Given the description of an element on the screen output the (x, y) to click on. 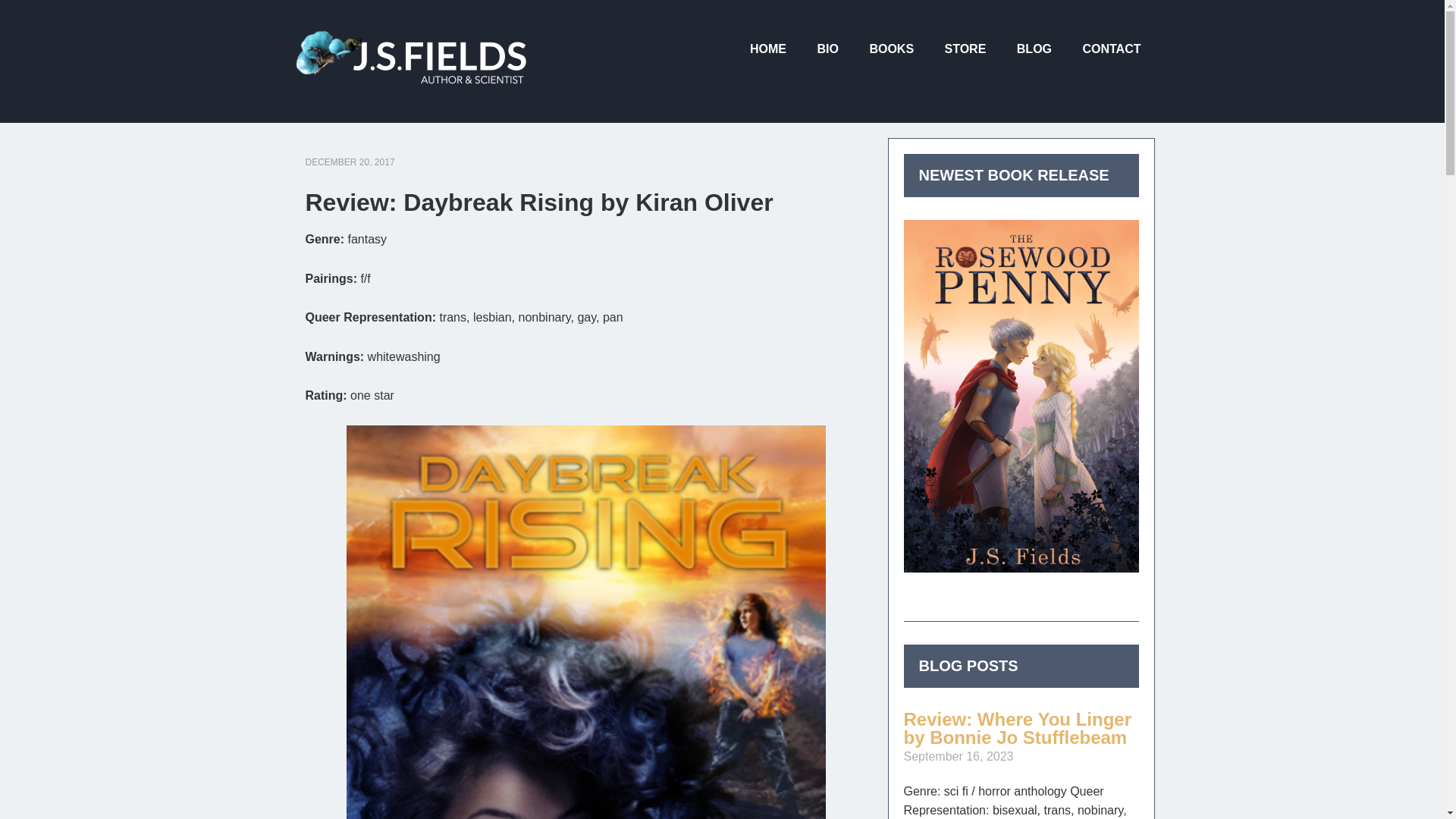
J.S. Fields (410, 45)
Review: Where You Linger by Bonnie Jo Stufflebeam (1018, 728)
BOOKS (891, 49)
CONTACT (1111, 49)
STORE (965, 49)
